Given the description of an element on the screen output the (x, y) to click on. 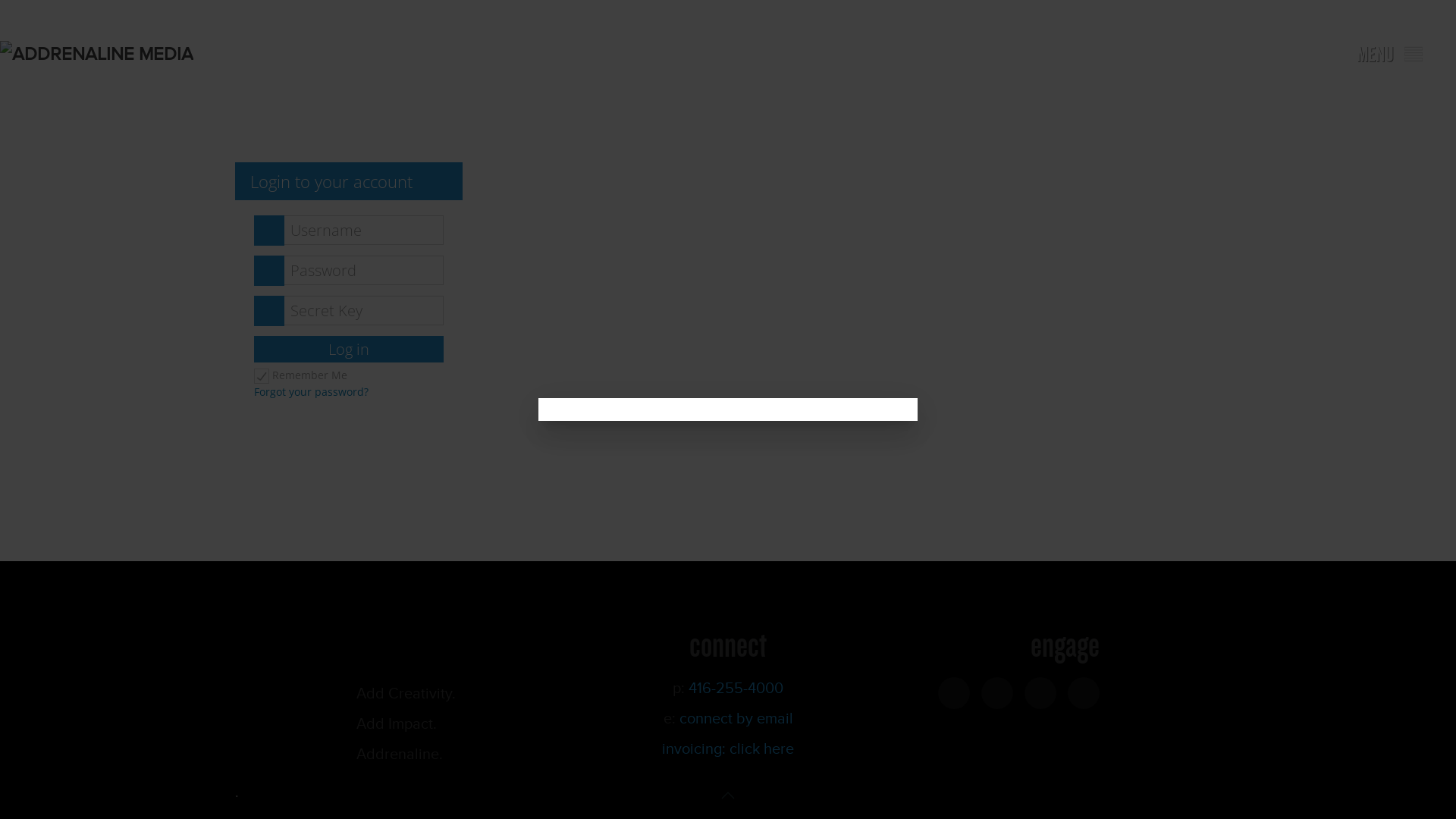
MENU Element type: text (1388, 54)
. Element type: text (236, 792)
connect by email Element type: text (736, 718)
416-255-4000 Element type: text (735, 688)
Log in Element type: text (348, 348)
invoicing: click here Element type: text (728, 748)
Forgot your password? Element type: text (311, 391)
